Given the description of an element on the screen output the (x, y) to click on. 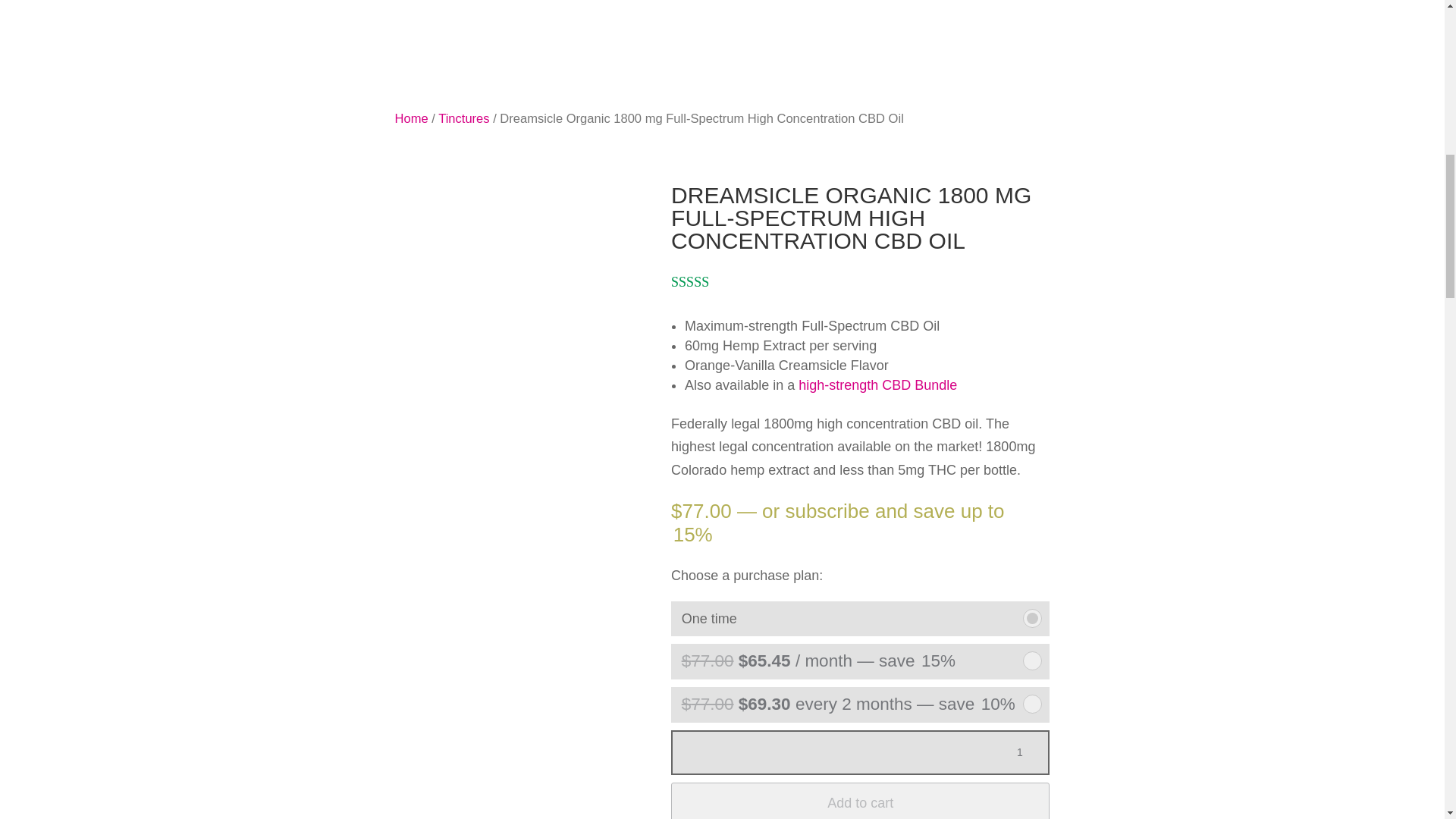
0 (1032, 618)
1 (1025, 752)
